Given the description of an element on the screen output the (x, y) to click on. 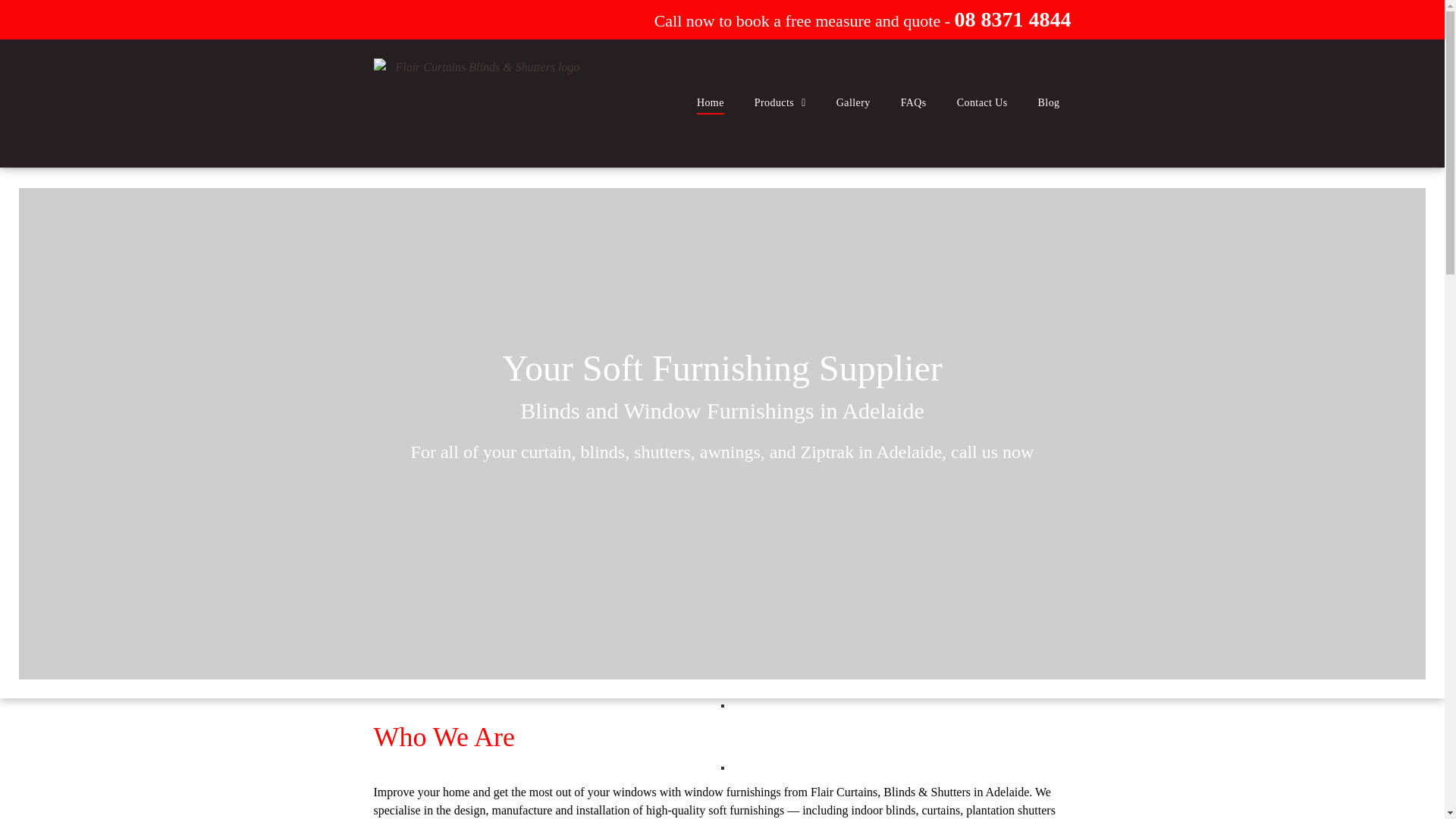
Home Element type: text (710, 102)
Products Element type: text (780, 102)
Gallery Element type: text (853, 102)
08 8371 4844 Element type: text (1011, 21)
Blog Element type: text (1048, 102)
FAQs Element type: text (913, 102)
Contact Us Element type: text (982, 102)
